Given the description of an element on the screen output the (x, y) to click on. 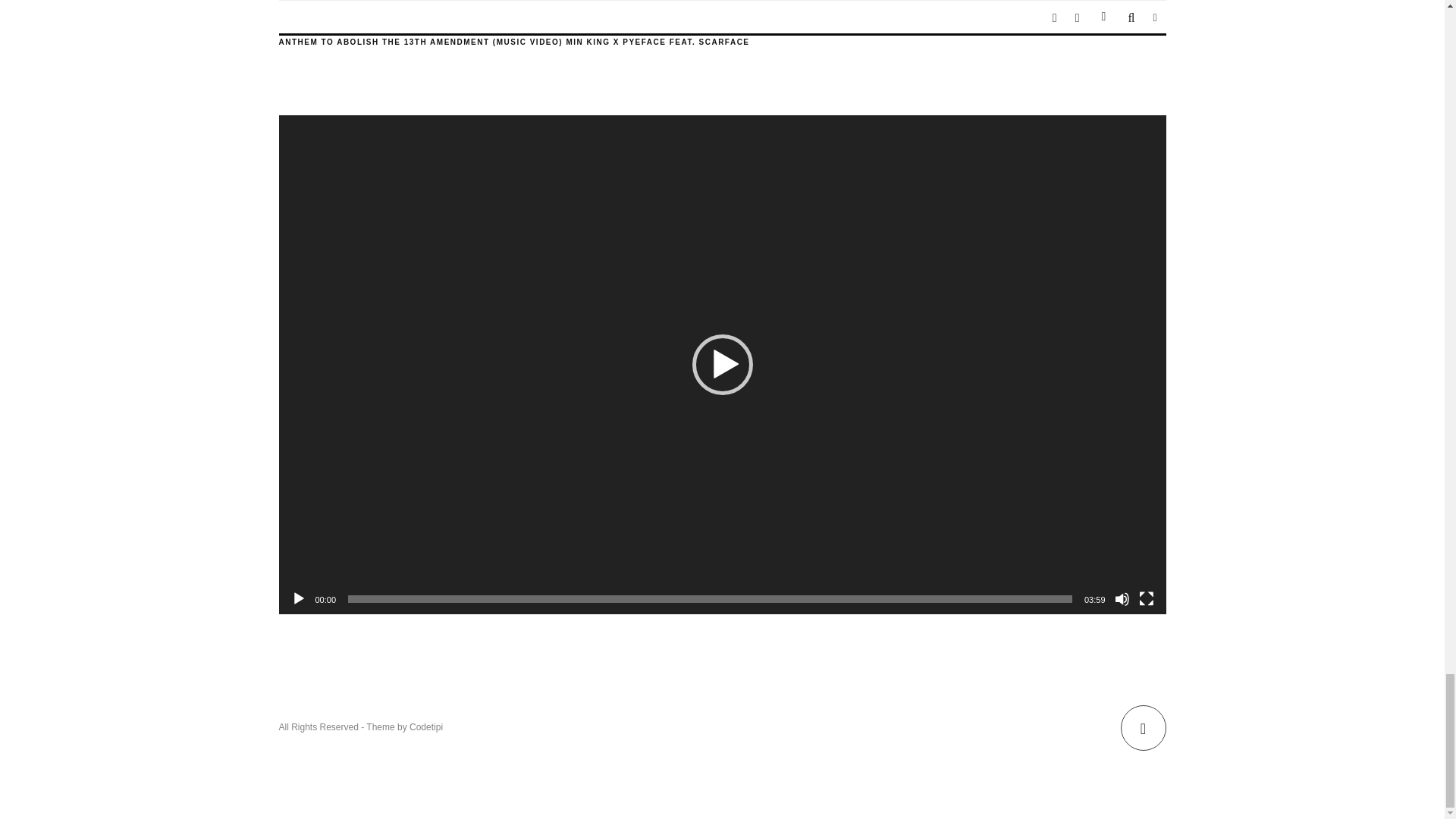
Mute (1122, 598)
Fullscreen (1146, 598)
Play (298, 598)
